Given the description of an element on the screen output the (x, y) to click on. 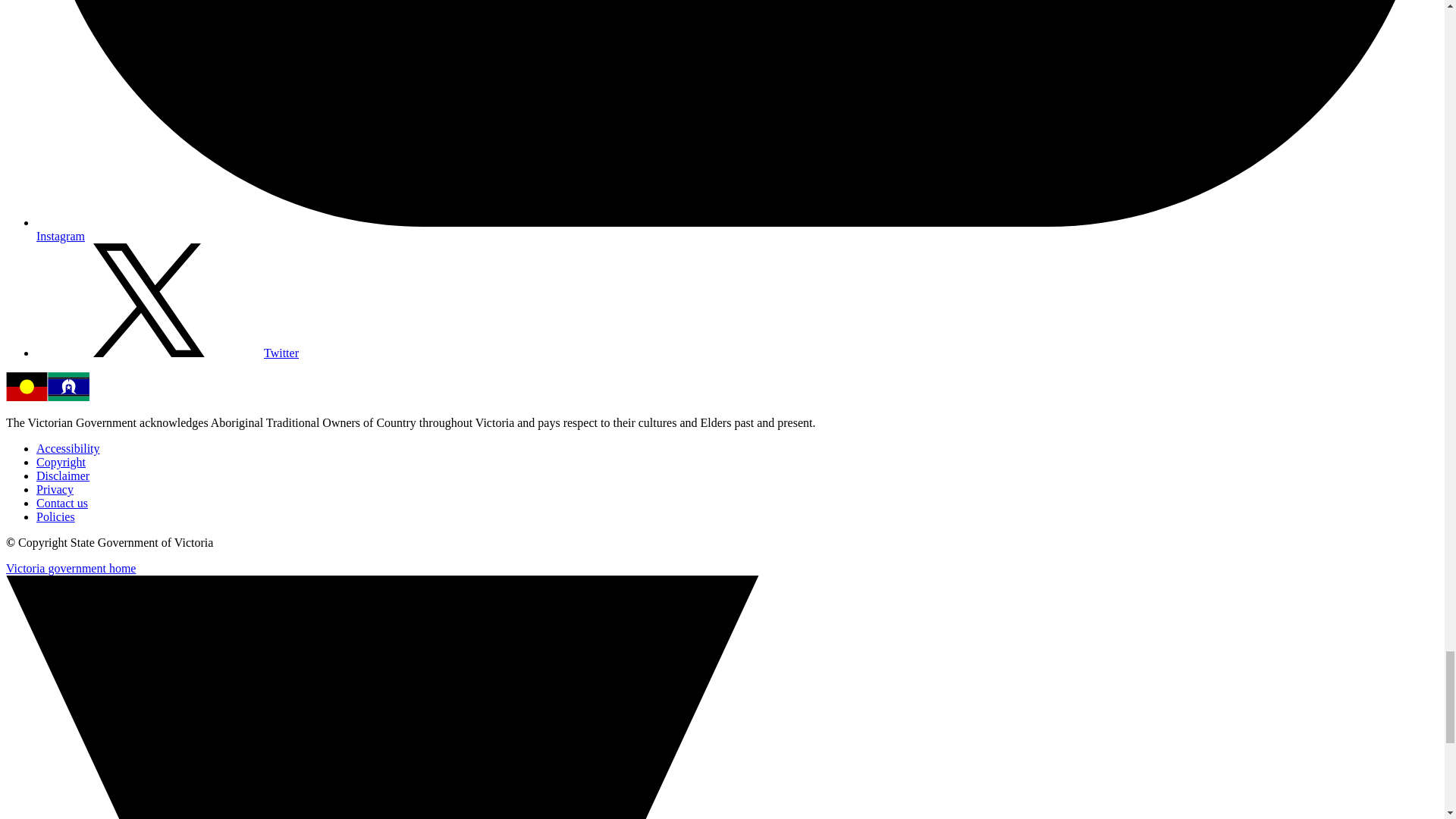
Twitter (167, 352)
Disclaimer (62, 475)
Copyright (60, 461)
Accessibility (68, 448)
Contact us (61, 502)
Policies (55, 516)
Privacy (55, 489)
